Given the description of an element on the screen output the (x, y) to click on. 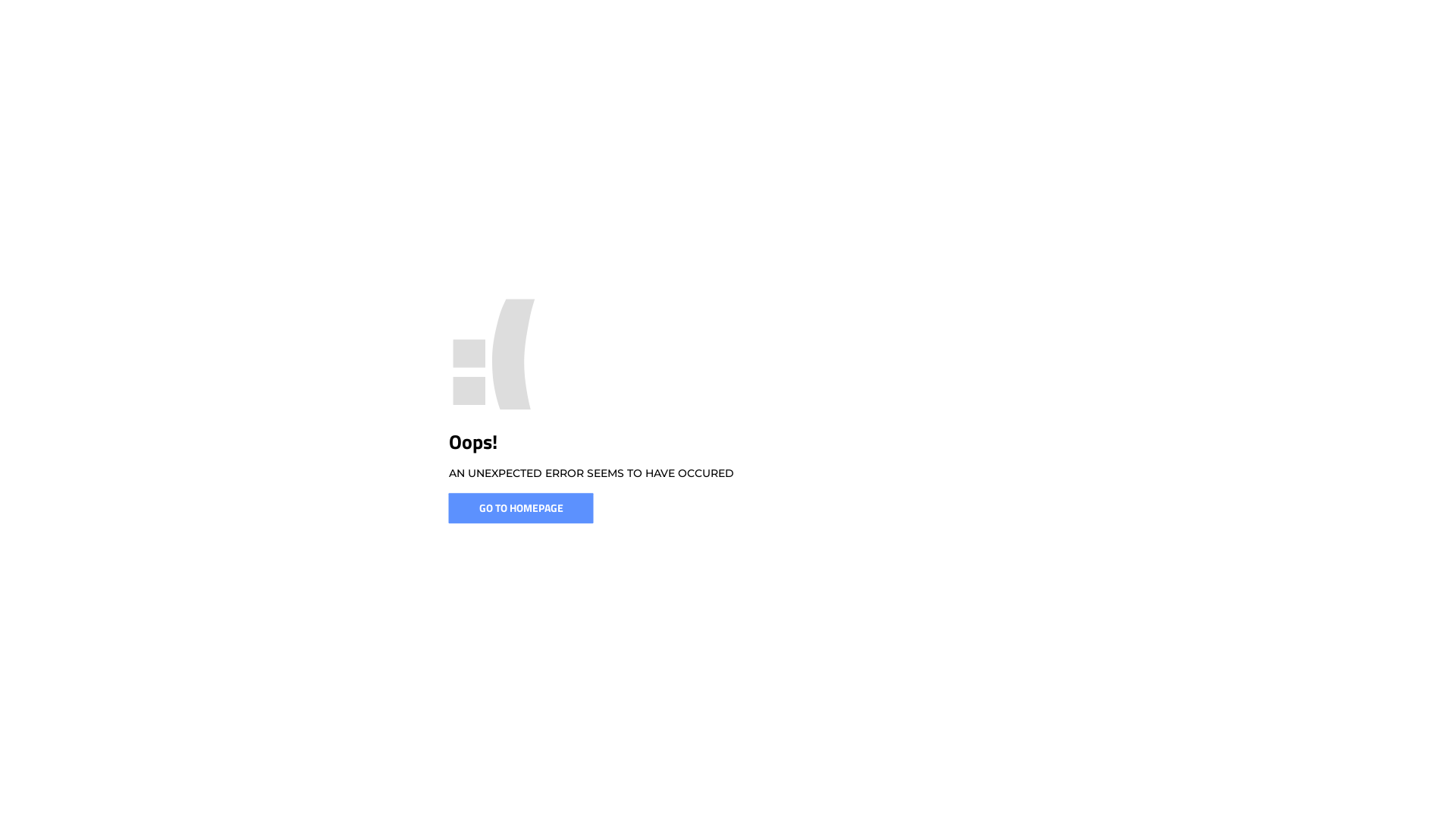
GO TO HOMEPAGE Element type: text (520, 507)
